Given the description of an element on the screen output the (x, y) to click on. 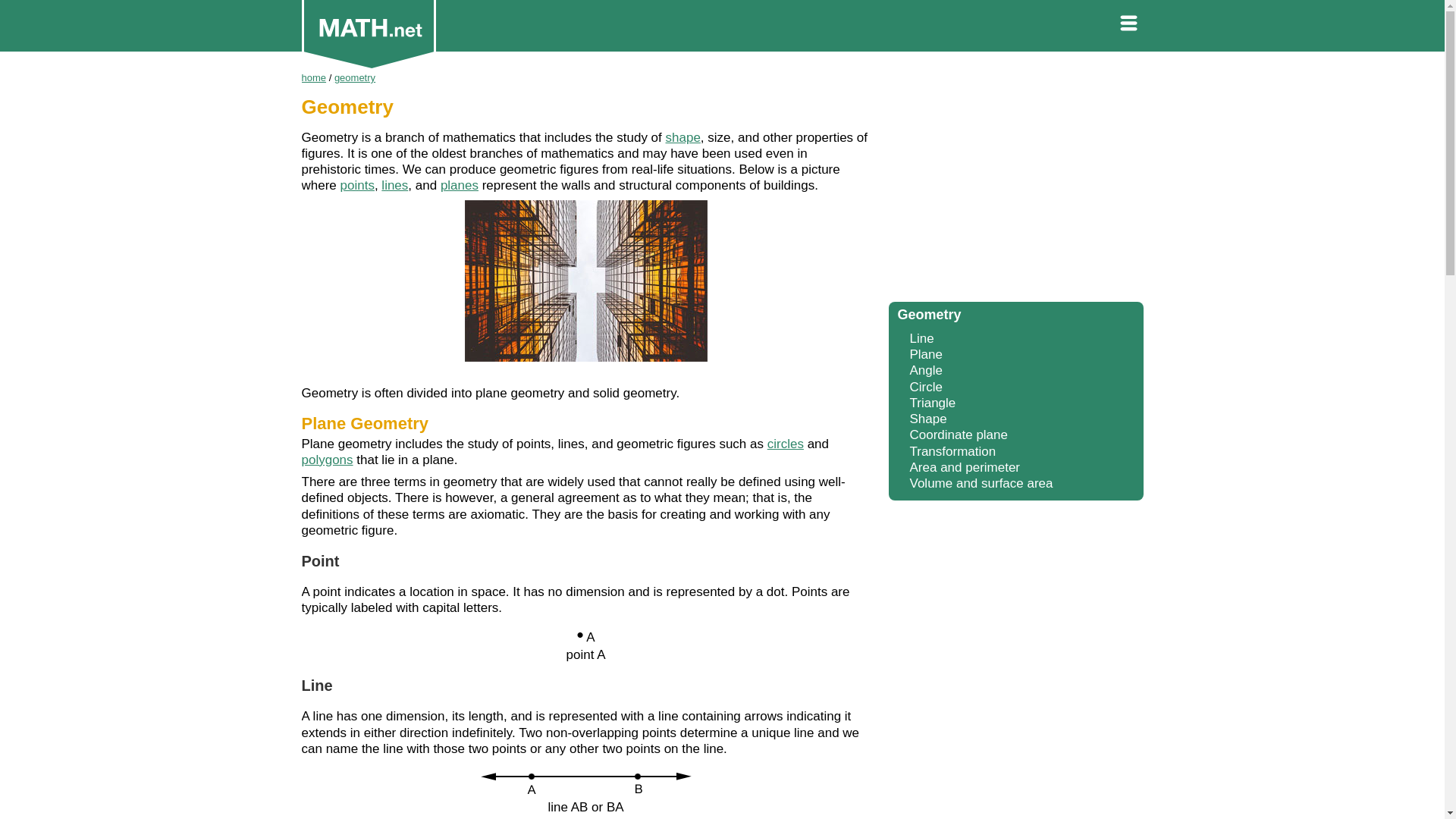
Volume and surface area (981, 482)
Angle (926, 370)
Advertisement (1015, 182)
Circle (926, 386)
lines (394, 185)
shape (682, 137)
circles (785, 443)
points (357, 185)
Plane (926, 354)
planes (460, 185)
Transformation (952, 451)
Triangle (933, 402)
polygons (327, 459)
geometry (354, 77)
Area and perimeter (965, 467)
